Given the description of an element on the screen output the (x, y) to click on. 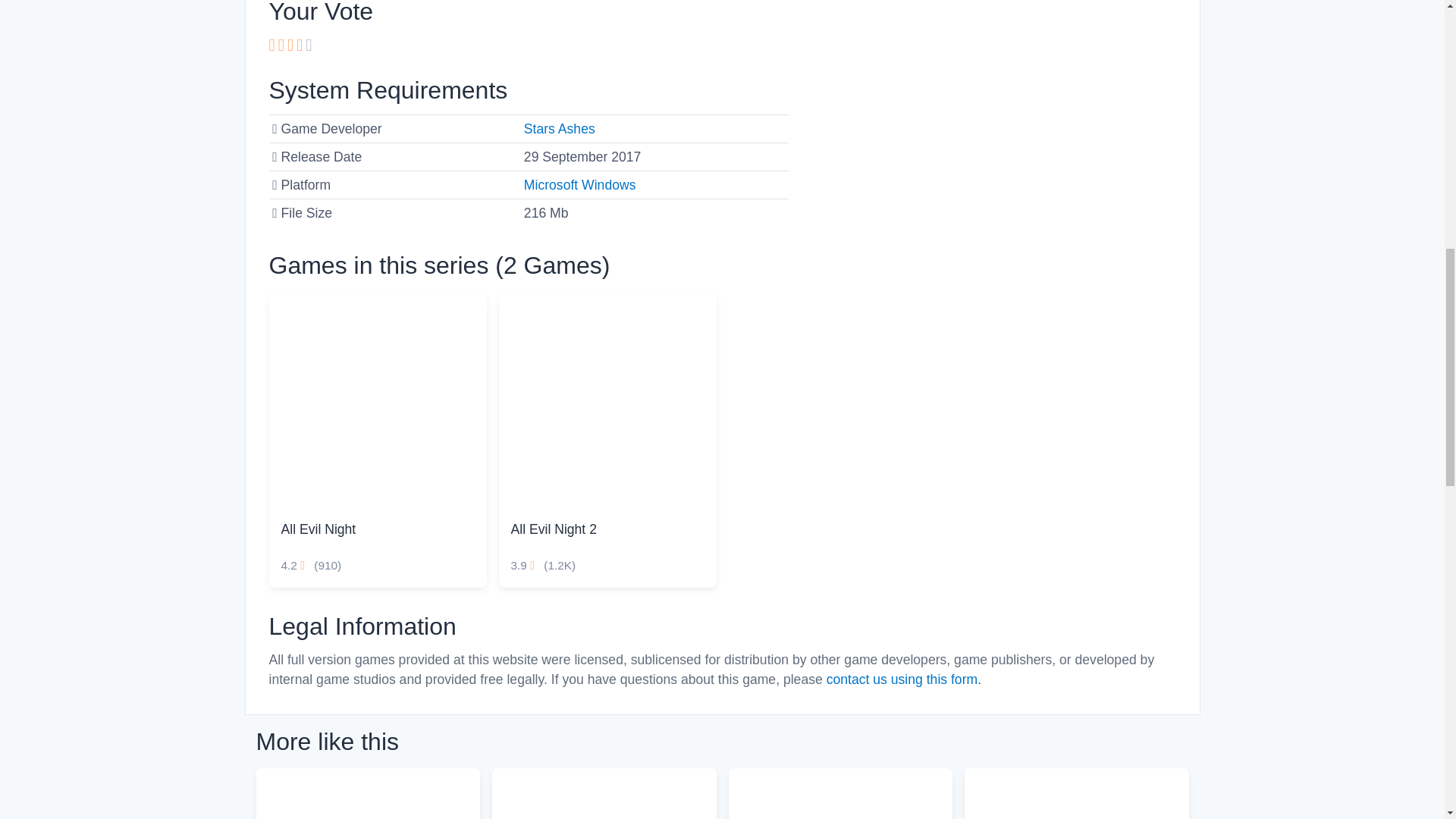
Toy Defense (1076, 793)
Toy Defense (1076, 793)
All Evil Night 2 (607, 400)
Alien Shooter 2 (840, 793)
Stars Ashes (559, 128)
Alien Shooter (368, 793)
Alien Shooter (368, 793)
Landgrabbers (604, 793)
Microsoft Windows (580, 184)
Landgrabbers (604, 793)
